Given the description of an element on the screen output the (x, y) to click on. 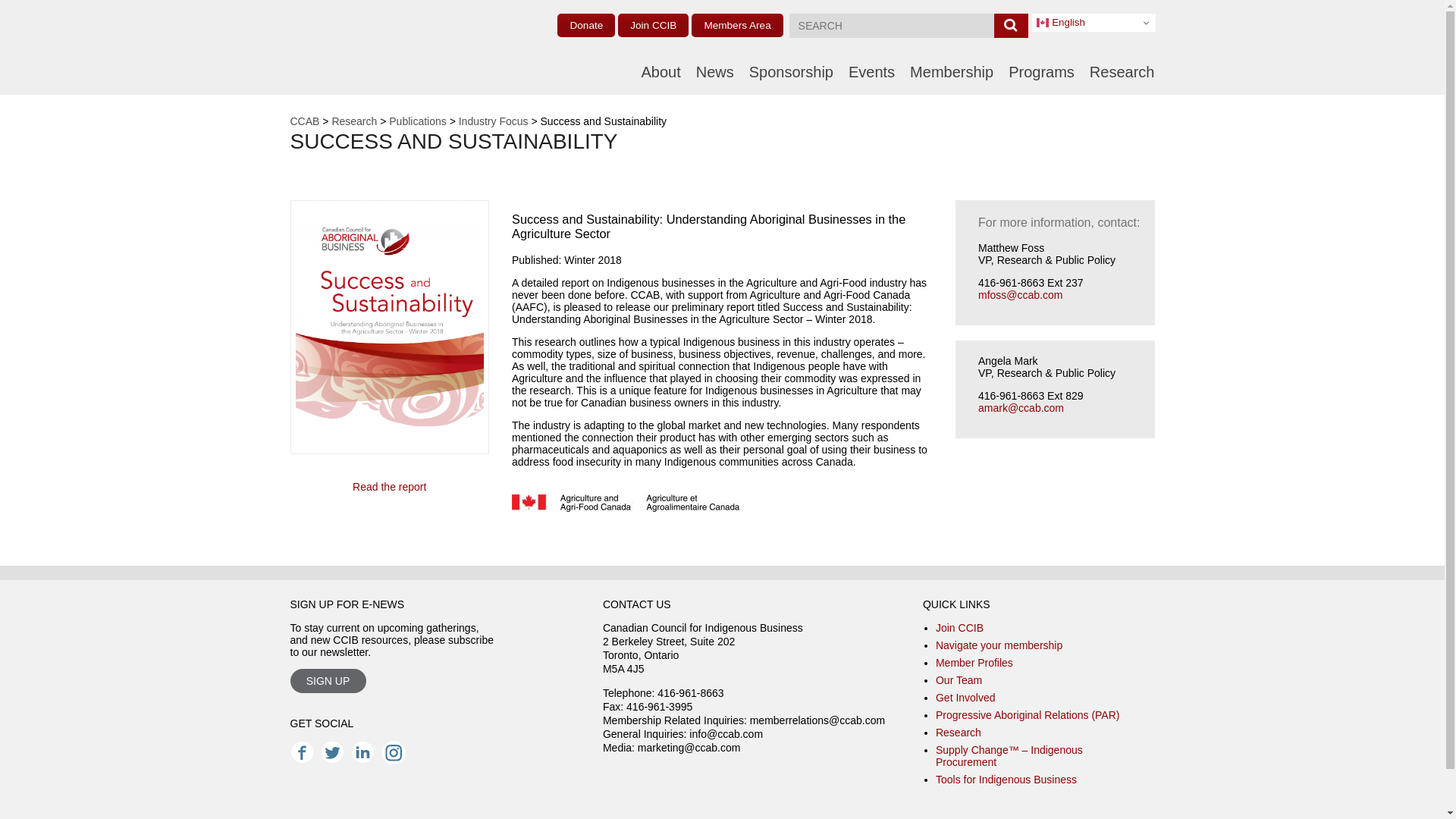
About (659, 71)
Programs (1041, 71)
Agriculture Canada logo (625, 502)
Go to Publications. (417, 121)
Events (871, 71)
Join CCIB (652, 24)
Donate (585, 24)
Go to Industry Focus. (493, 121)
English (1094, 22)
Members Area (737, 24)
Sponsorship (790, 71)
News (714, 71)
Membership (951, 71)
Go to CCAB. (303, 121)
Go to Research. (354, 121)
